Given the description of an element on the screen output the (x, y) to click on. 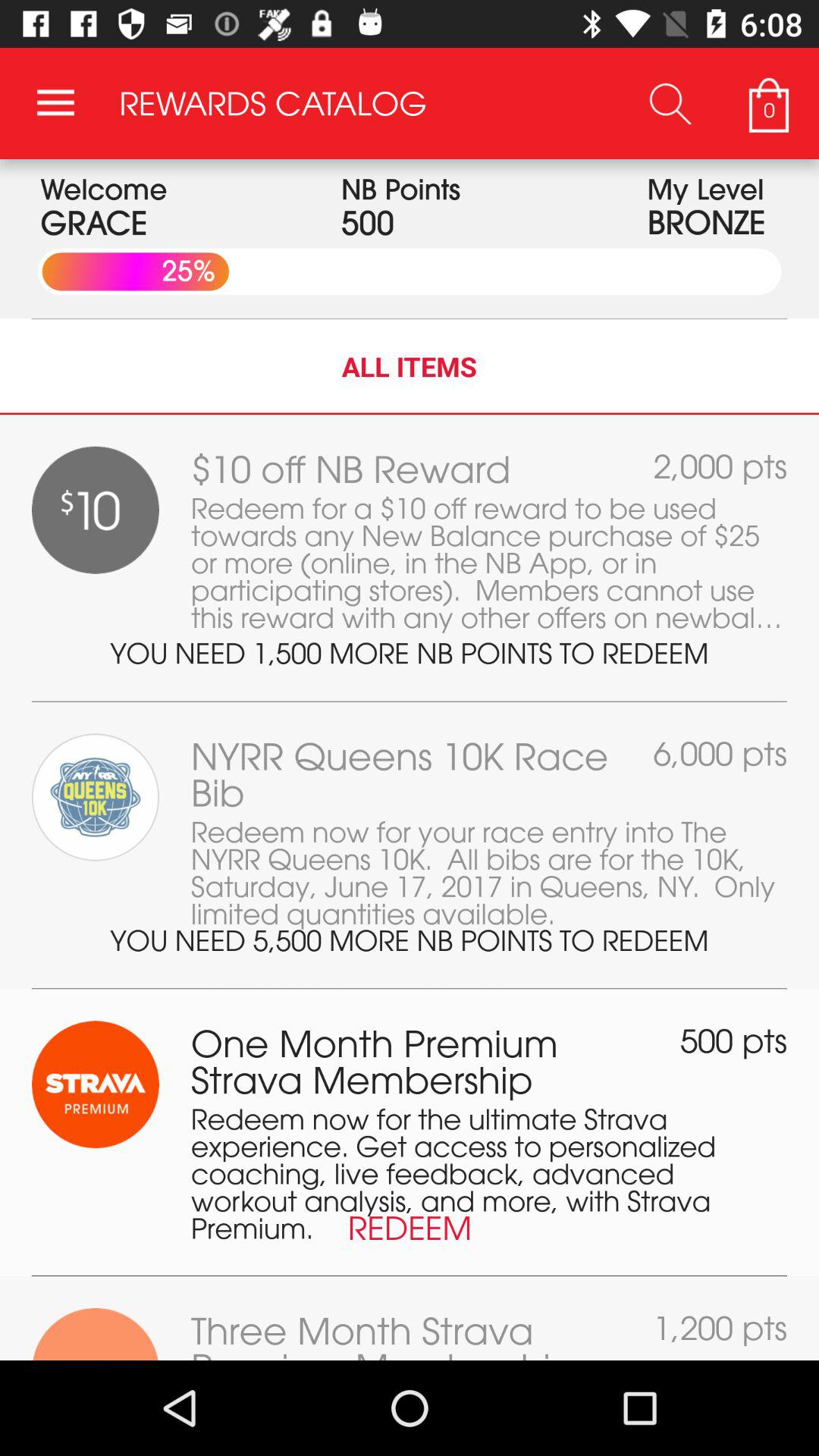
click item below redeem icon (409, 1275)
